Given the description of an element on the screen output the (x, y) to click on. 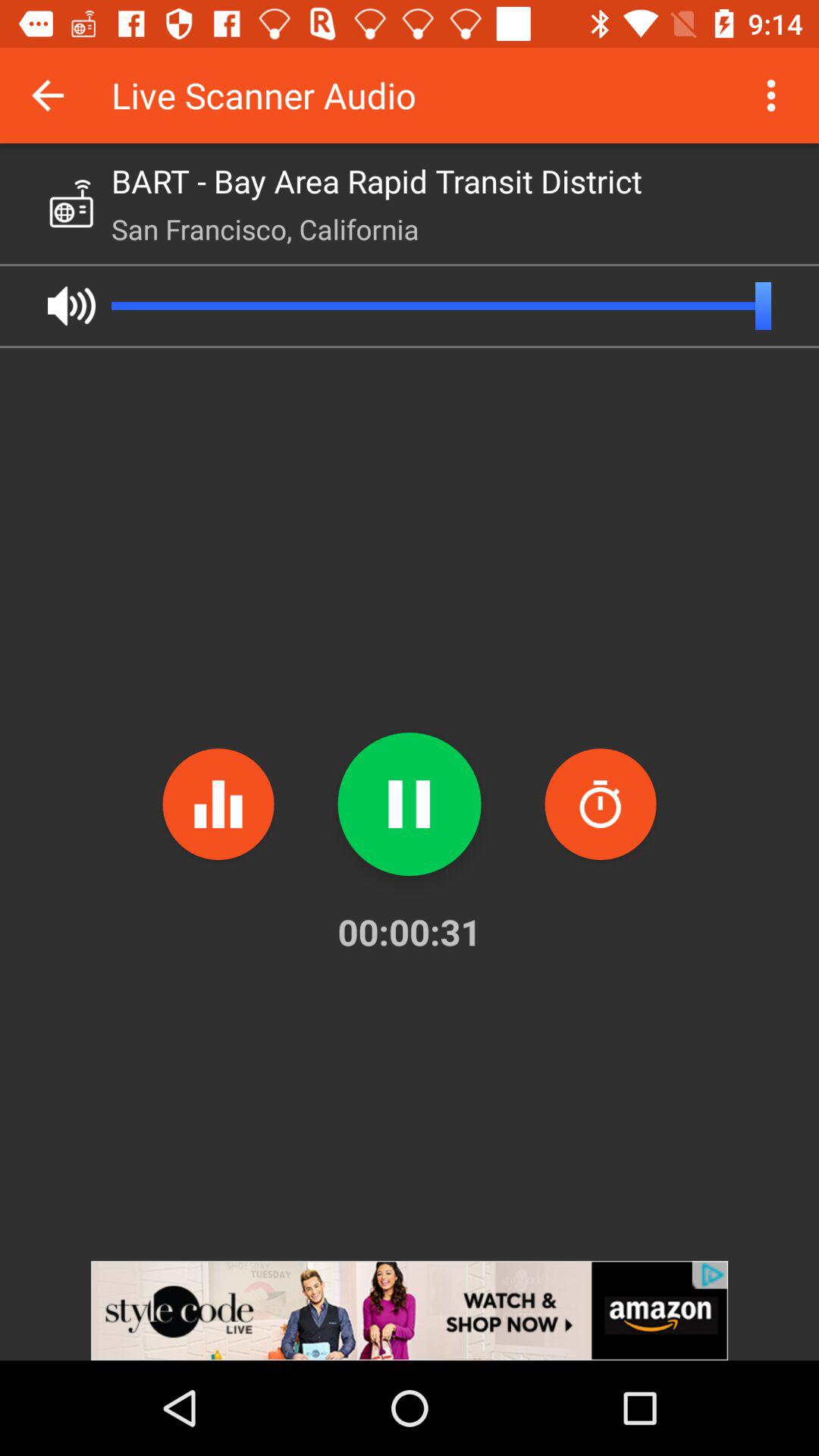
go to menu (771, 95)
